Given the description of an element on the screen output the (x, y) to click on. 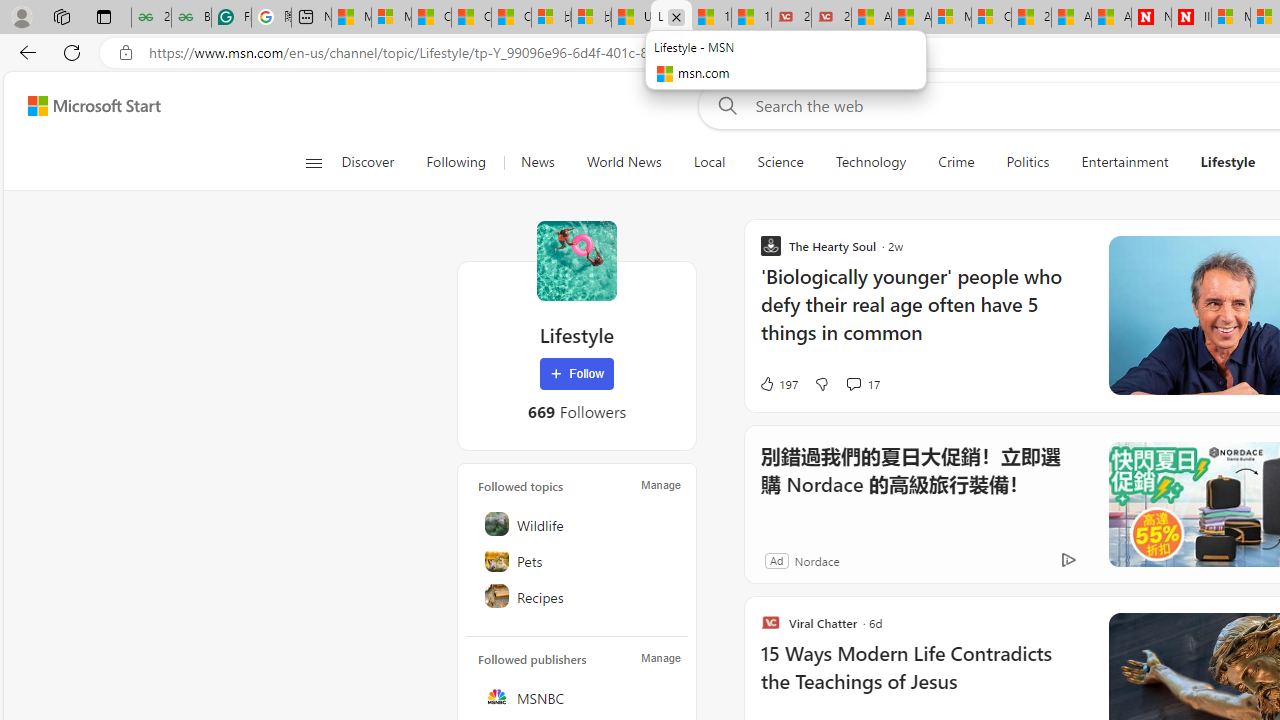
197 Like (778, 384)
Illness news & latest pictures from Newsweek.com (1191, 17)
Lifestyle (576, 260)
15 Ways Modern Life Contradicts the Teachings of Jesus (751, 17)
MSNBC (578, 696)
25 Basic Linux Commands For Beginners - GeeksforGeeks (151, 17)
Ad (776, 560)
Technology (870, 162)
15 Ways Modern Life Contradicts the Teachings of Jesus (922, 678)
USA TODAY - MSN (631, 17)
Skip to footer (82, 105)
Web search (724, 105)
Local (709, 162)
View comments 17 Comment (852, 383)
